Given the description of an element on the screen output the (x, y) to click on. 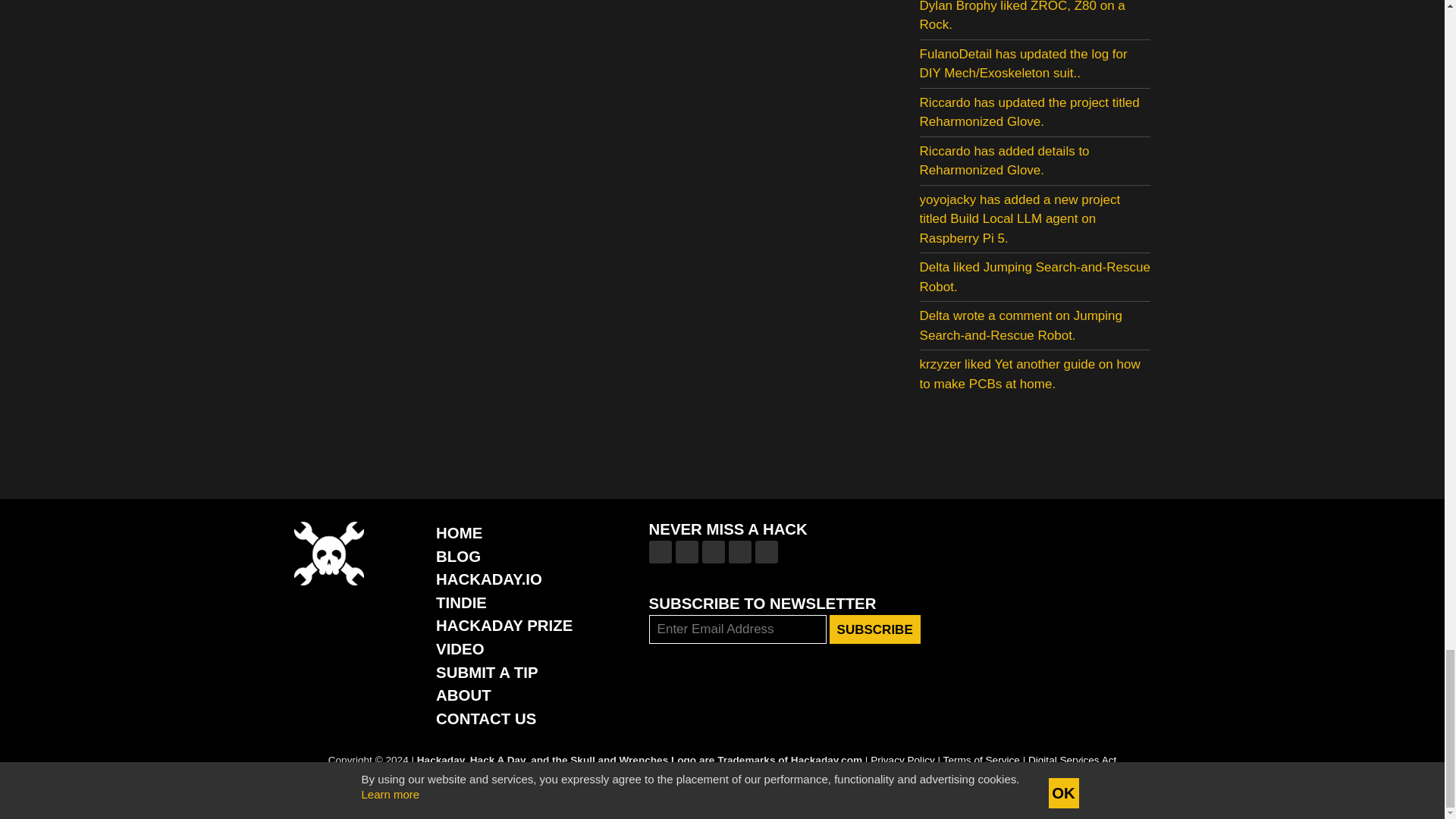
Build Something that Matters (503, 625)
Subscribe (874, 629)
